Given the description of an element on the screen output the (x, y) to click on. 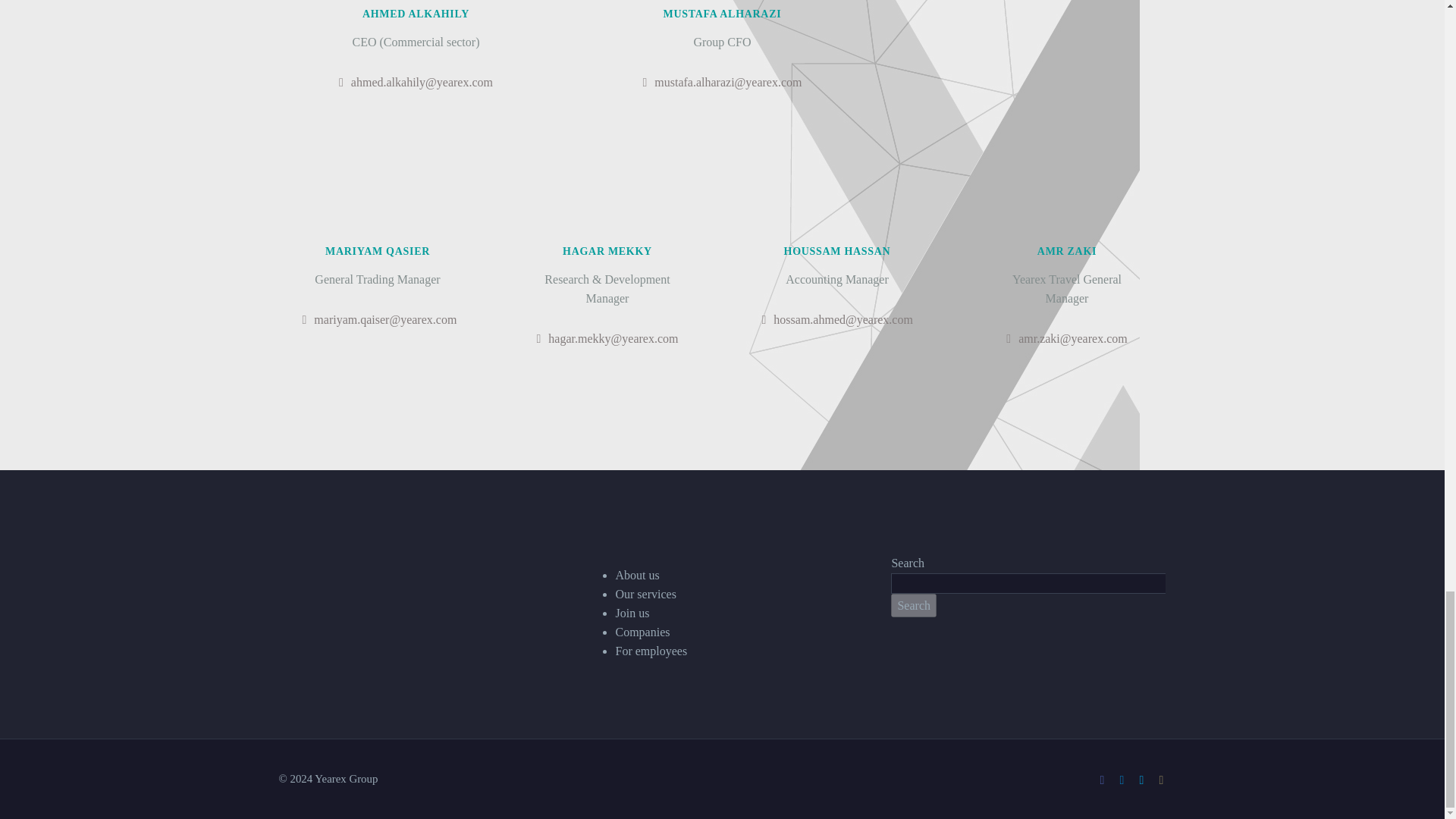
Instagram (1161, 779)
Join us (631, 612)
Twitter (1141, 779)
Companies (641, 631)
About us (636, 574)
For employees (650, 650)
Facebook (1102, 779)
Search (913, 605)
LinkedIn (1122, 779)
Our services (644, 594)
